Given the description of an element on the screen output the (x, y) to click on. 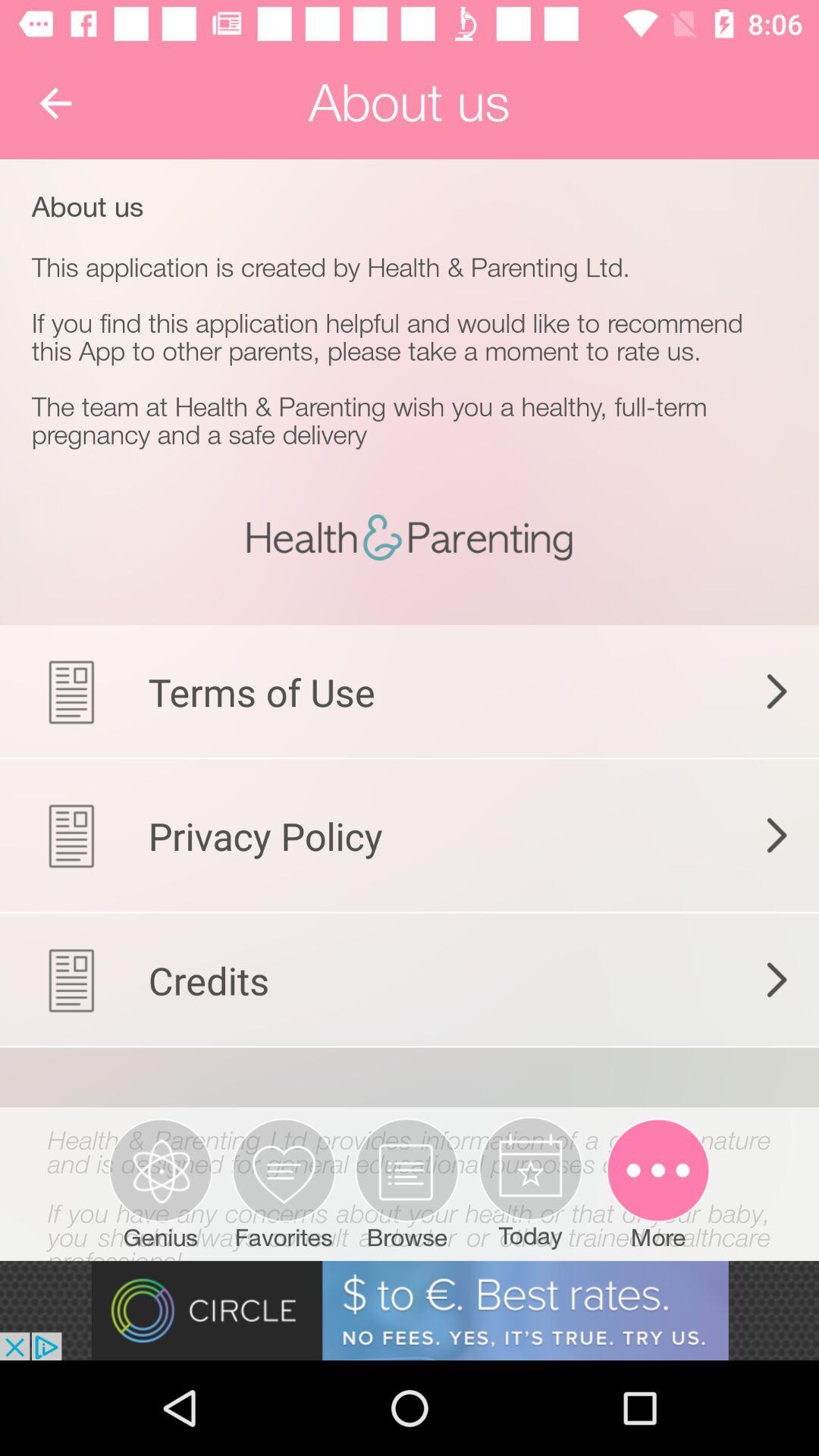
adventisment page (409, 1310)
